Given the description of an element on the screen output the (x, y) to click on. 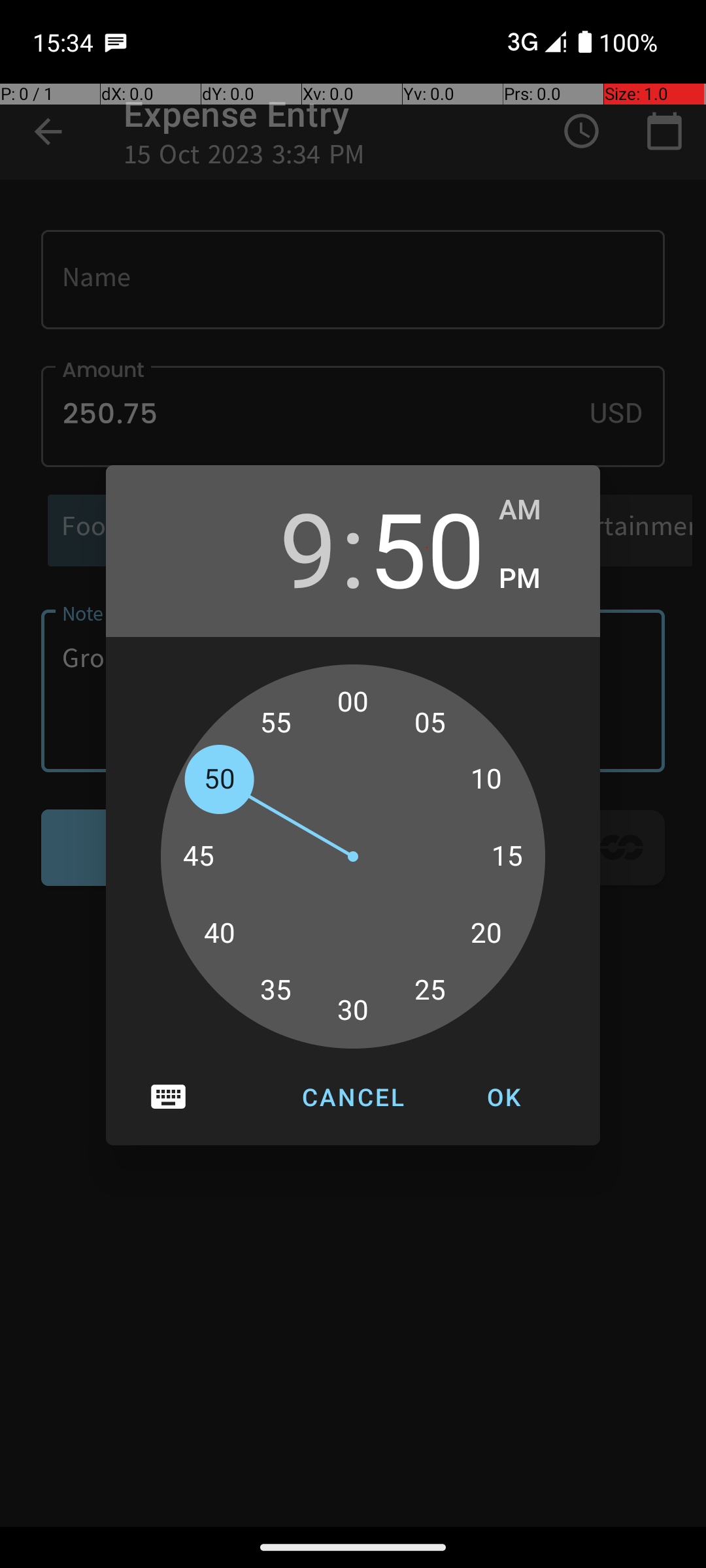
50 Element type: android.widget.TextView (426, 547)
34 Element type: android.widget.RadialTimePickerView$RadialPickerTouchHelper (289, 996)
35 Element type: android.widget.RadialTimePickerView$RadialPickerTouchHelper (275, 989)
40 Element type: android.widget.RadialTimePickerView$RadialPickerTouchHelper (218, 933)
AM Element type: android.widget.RadioButton (535, 510)
PM Element type: android.widget.RadioButton (535, 578)
SMS Messenger notification: +12845986552 Element type: android.widget.ImageView (115, 41)
